Given the description of an element on the screen output the (x, y) to click on. 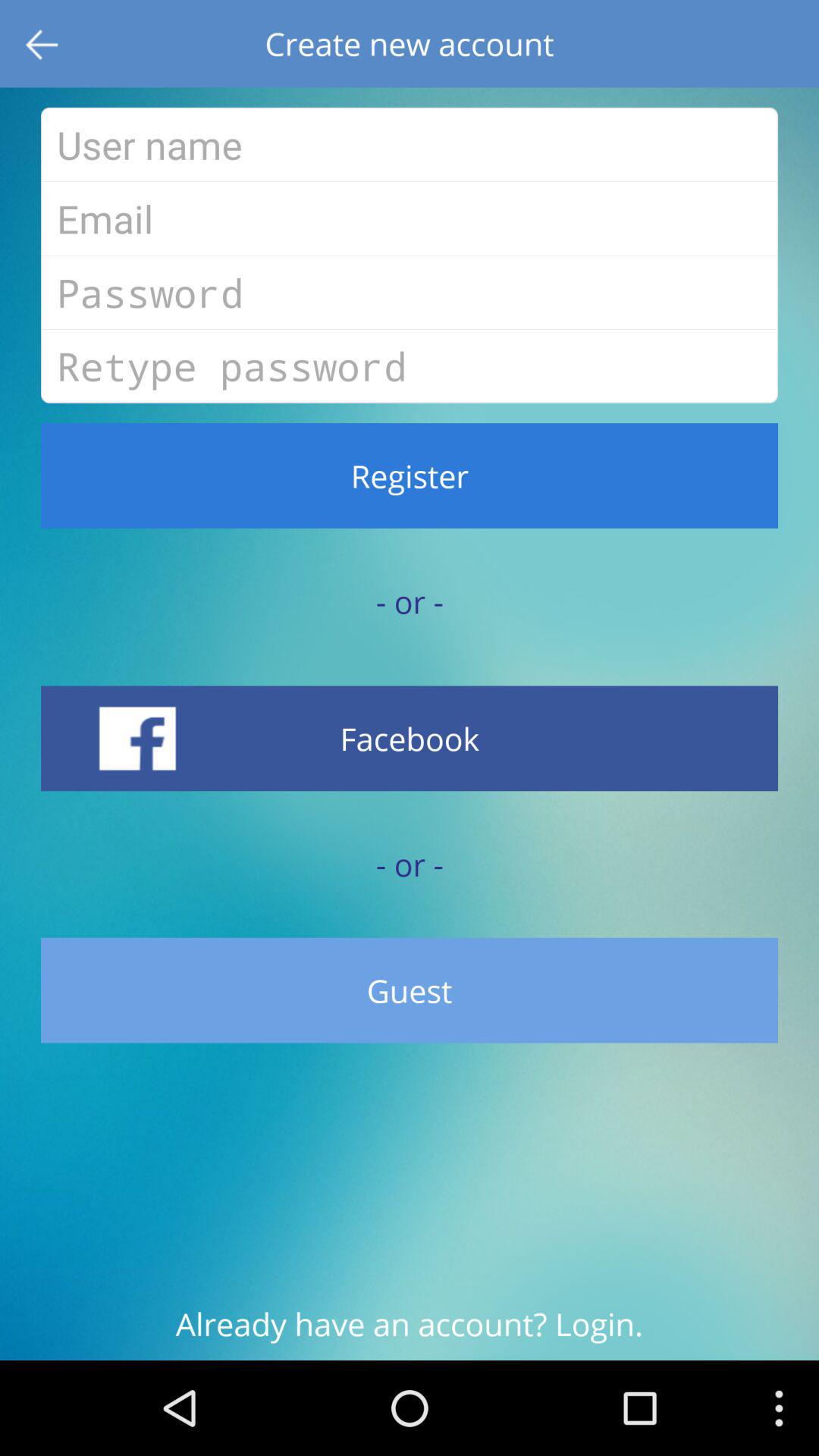
select the icon above the - or - (409, 738)
